Given the description of an element on the screen output the (x, y) to click on. 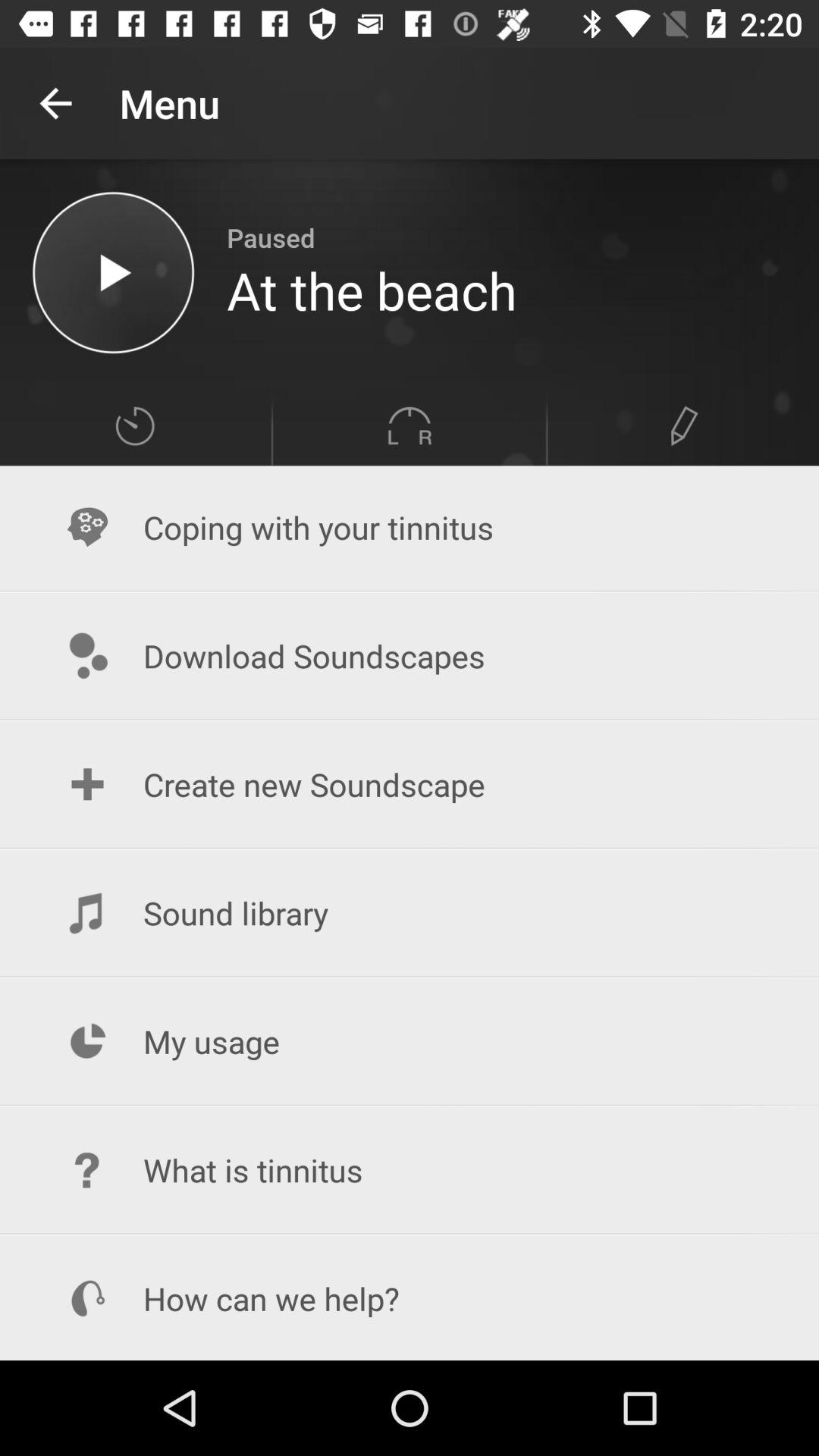
swipe to download soundscapes (409, 655)
